Given the description of an element on the screen output the (x, y) to click on. 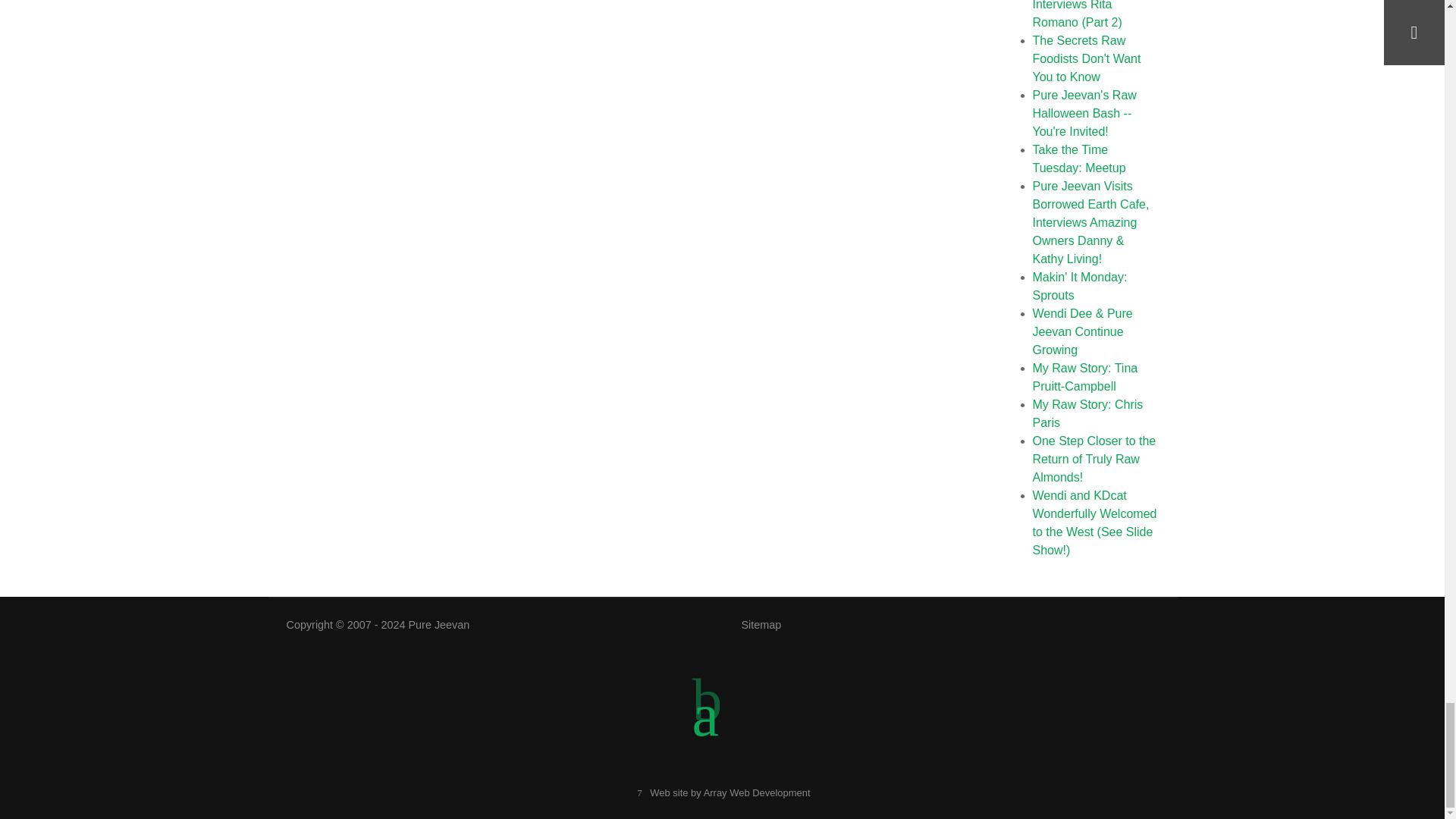
Pure Jeevan (439, 624)
